Given the description of an element on the screen output the (x, y) to click on. 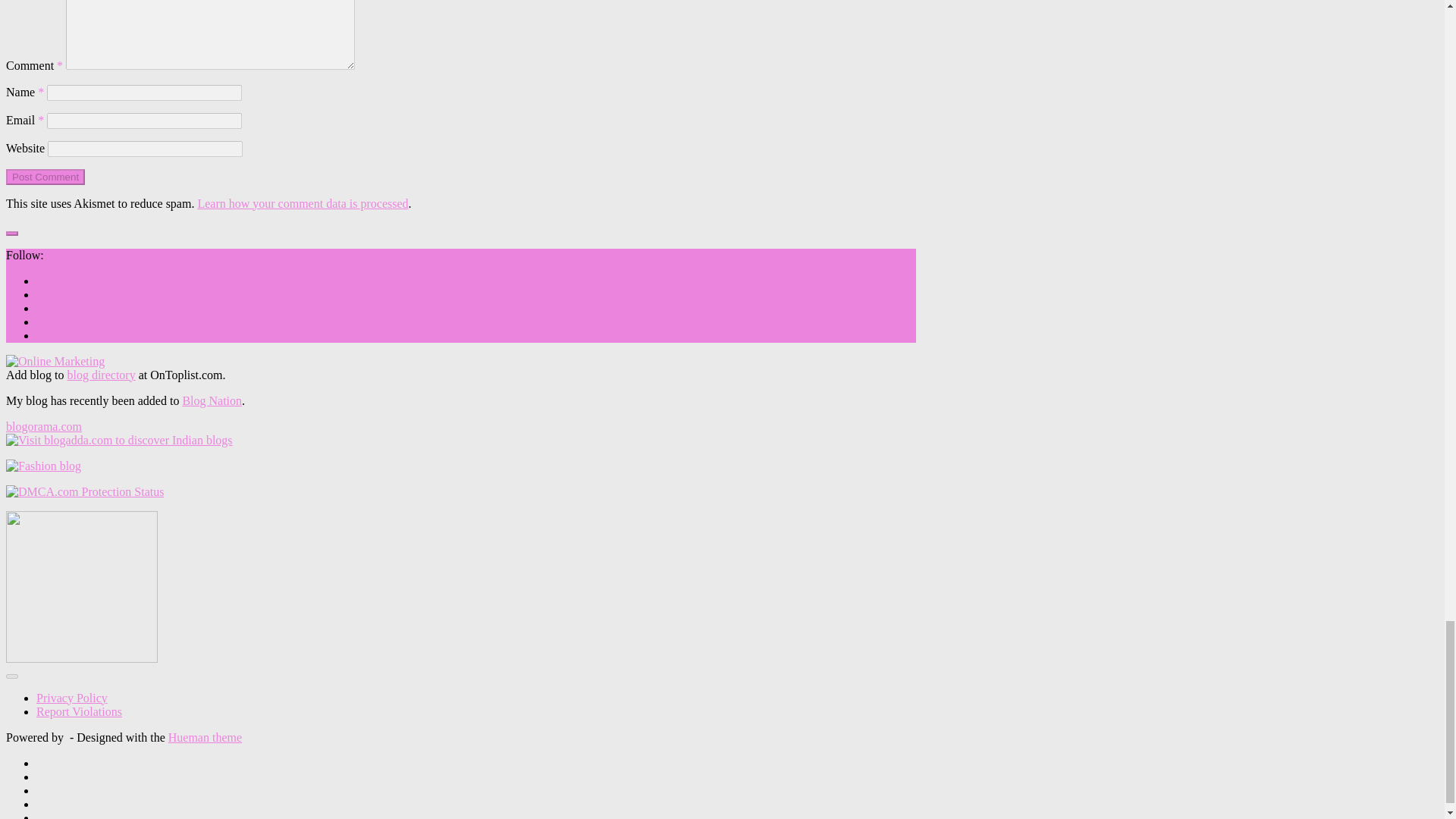
Post Comment (44, 176)
Online Marketing (54, 360)
Expand Sidebar (11, 232)
